Given the description of an element on the screen output the (x, y) to click on. 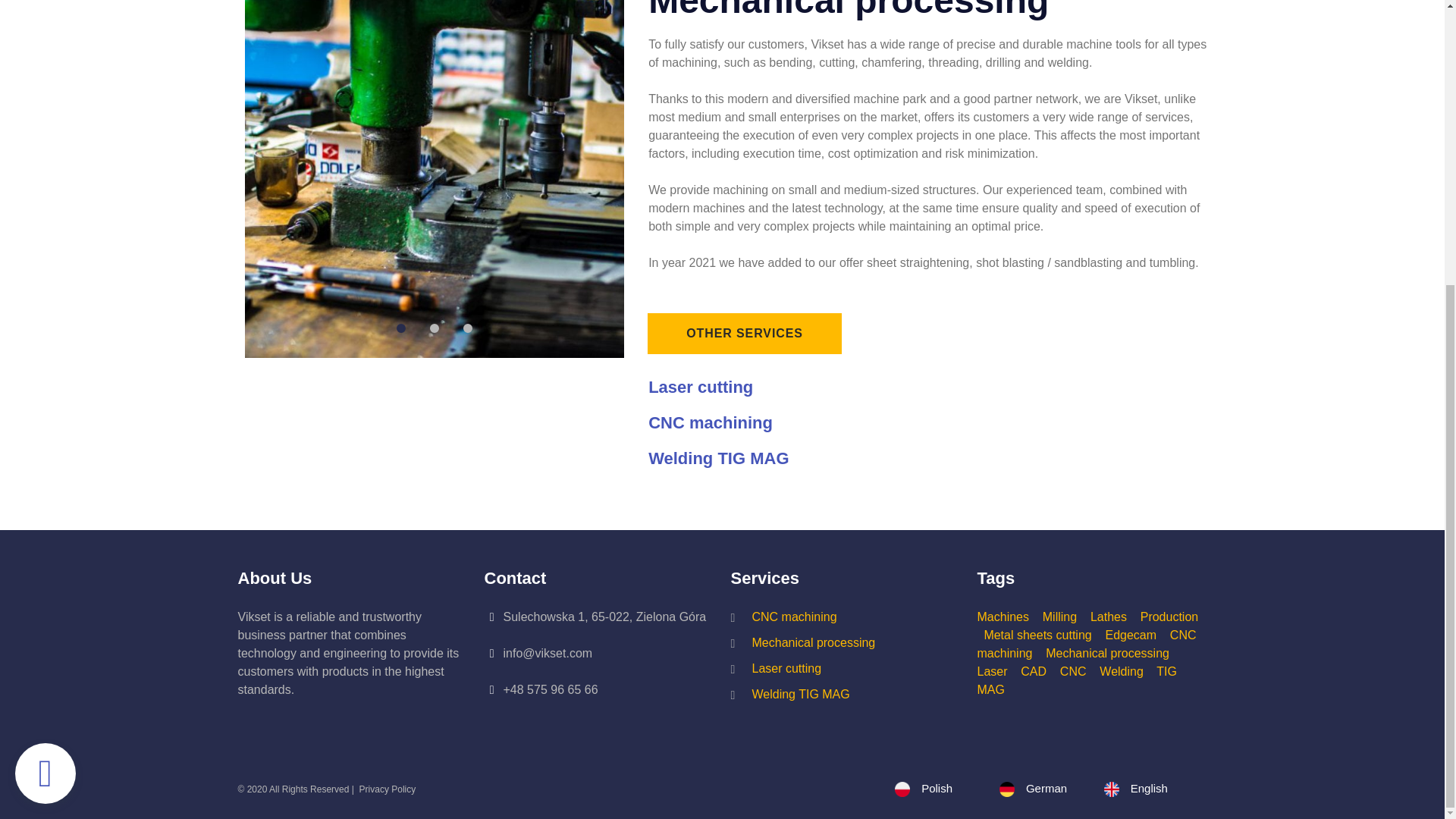
OTHER SERVICES (744, 332)
3 (467, 327)
Privacy Policy (387, 788)
1 (401, 327)
2 (434, 327)
German (1046, 788)
Polish (923, 788)
CNC machining (710, 422)
Welding TIG MAG (718, 457)
Laser cutting (699, 386)
